Given the description of an element on the screen output the (x, y) to click on. 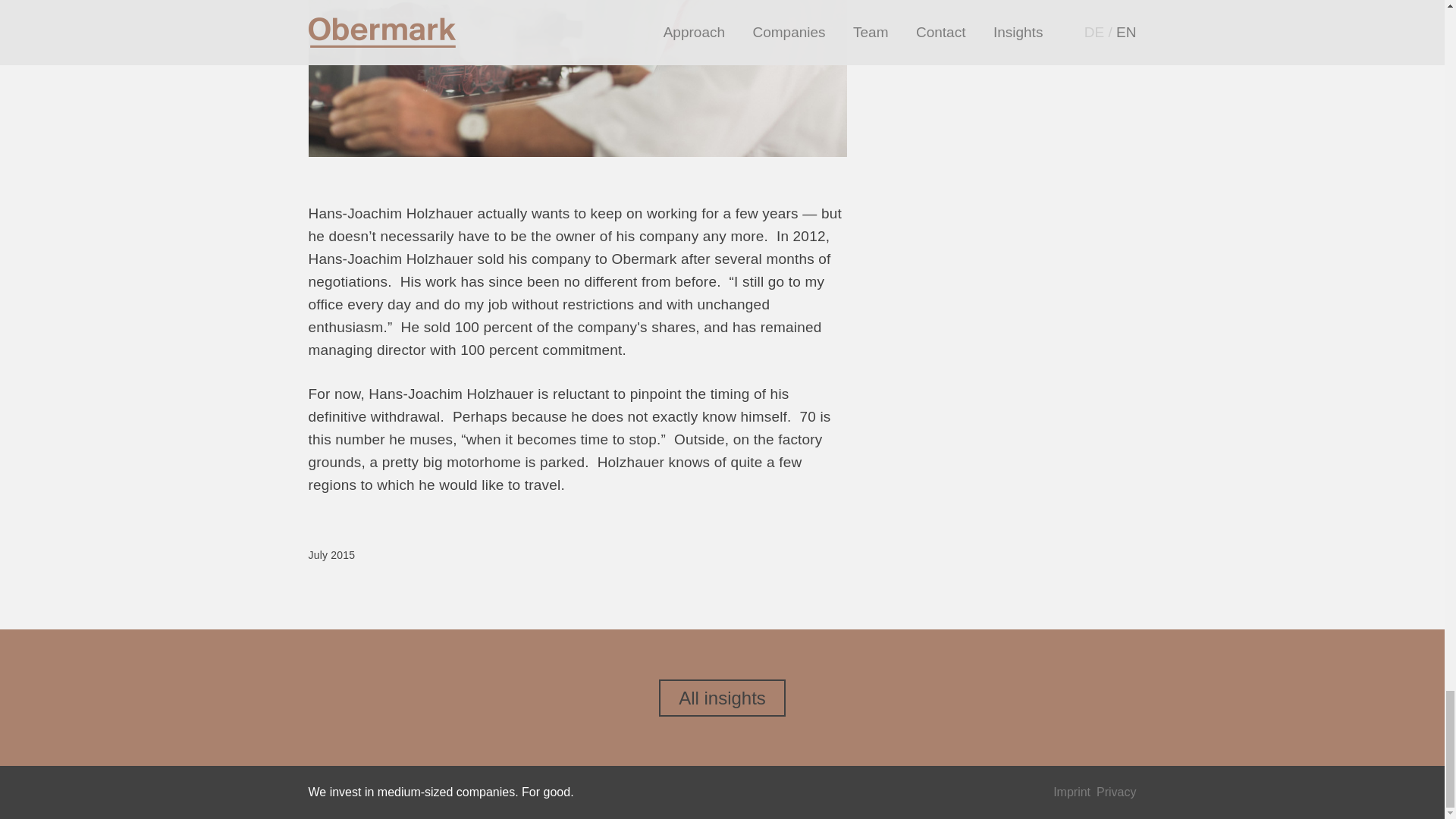
Privacy (1115, 791)
Imprint (1071, 791)
